Given the description of an element on the screen output the (x, y) to click on. 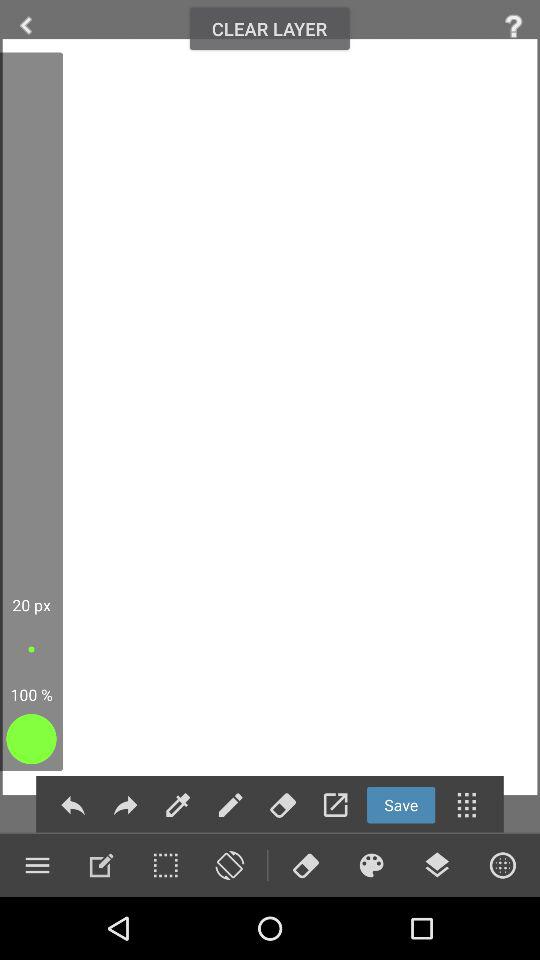
skip to the next (125, 804)
